Given the description of an element on the screen output the (x, y) to click on. 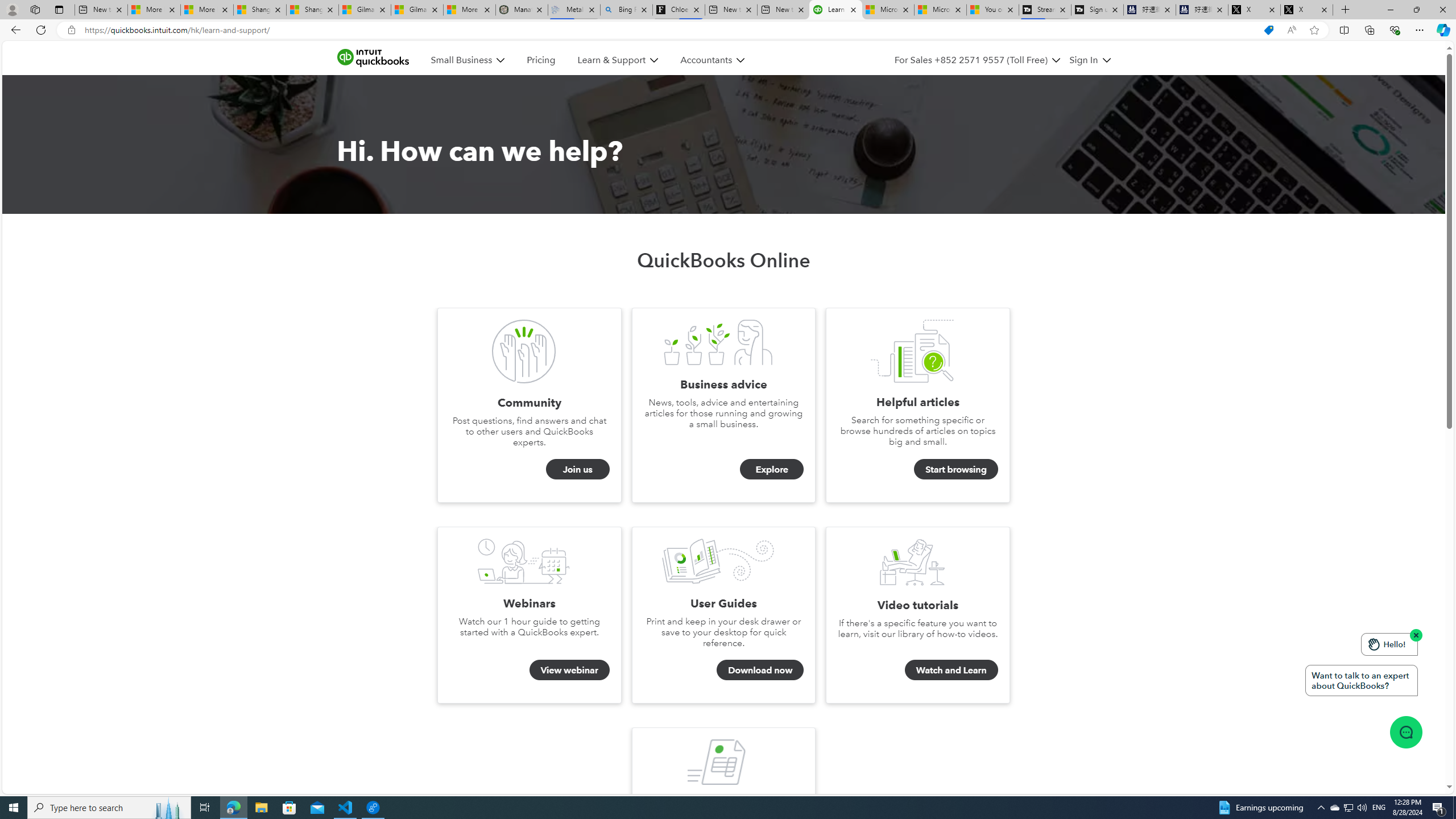
Download now (759, 670)
Accountants (705, 60)
Pricing (541, 60)
Small Business (461, 60)
For Sales +852 2571 9557 (Toll Free) (970, 60)
View webinar (569, 670)
Class: MenuItem_dDown__f585abf6 MenuItem_white__f585abf6 (1106, 60)
Start browsing (956, 468)
Sign In (1082, 60)
Sign In (1089, 60)
Join us (578, 468)
